Given the description of an element on the screen output the (x, y) to click on. 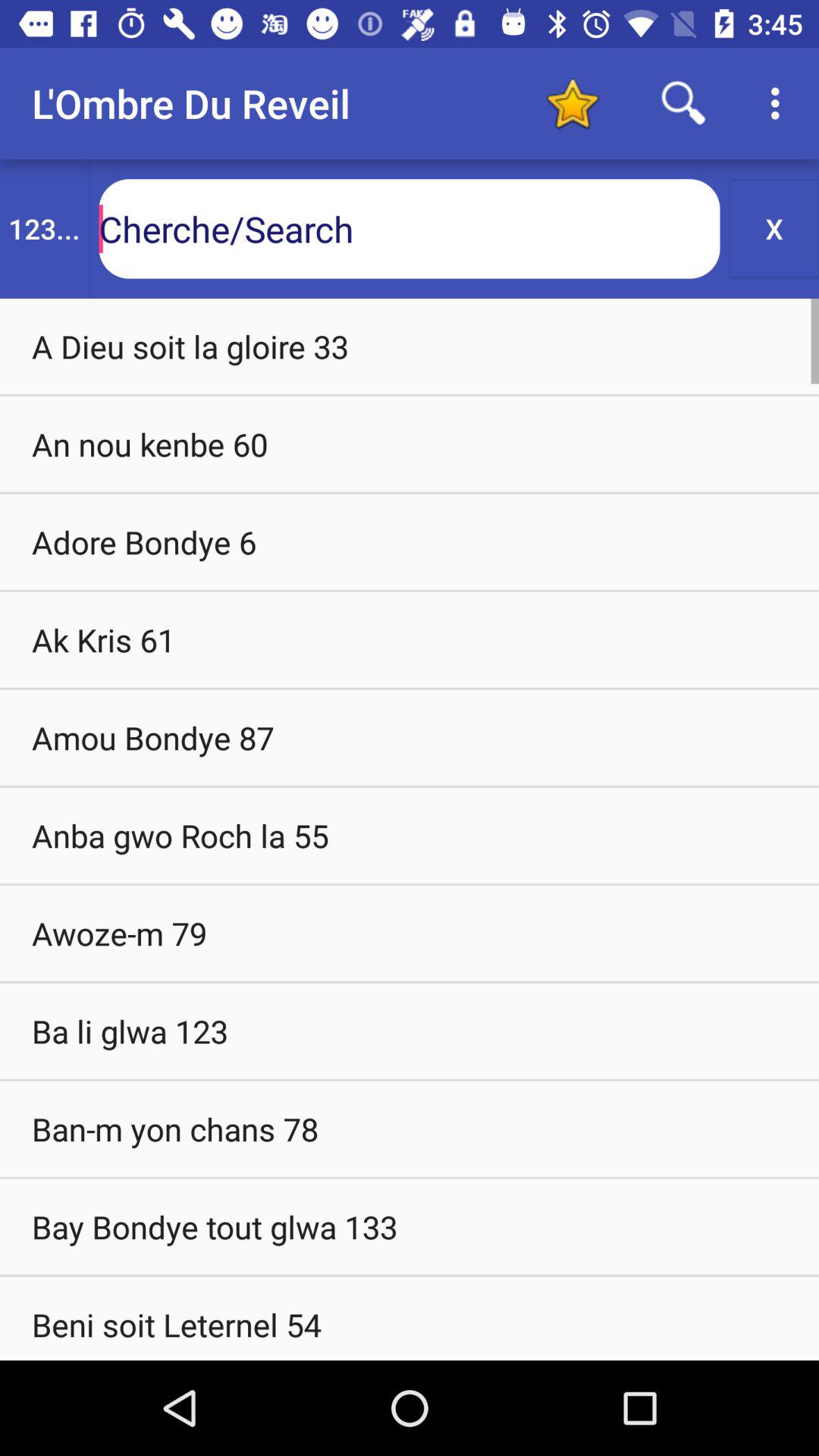
open item above the a dieu soit item (774, 228)
